Given the description of an element on the screen output the (x, y) to click on. 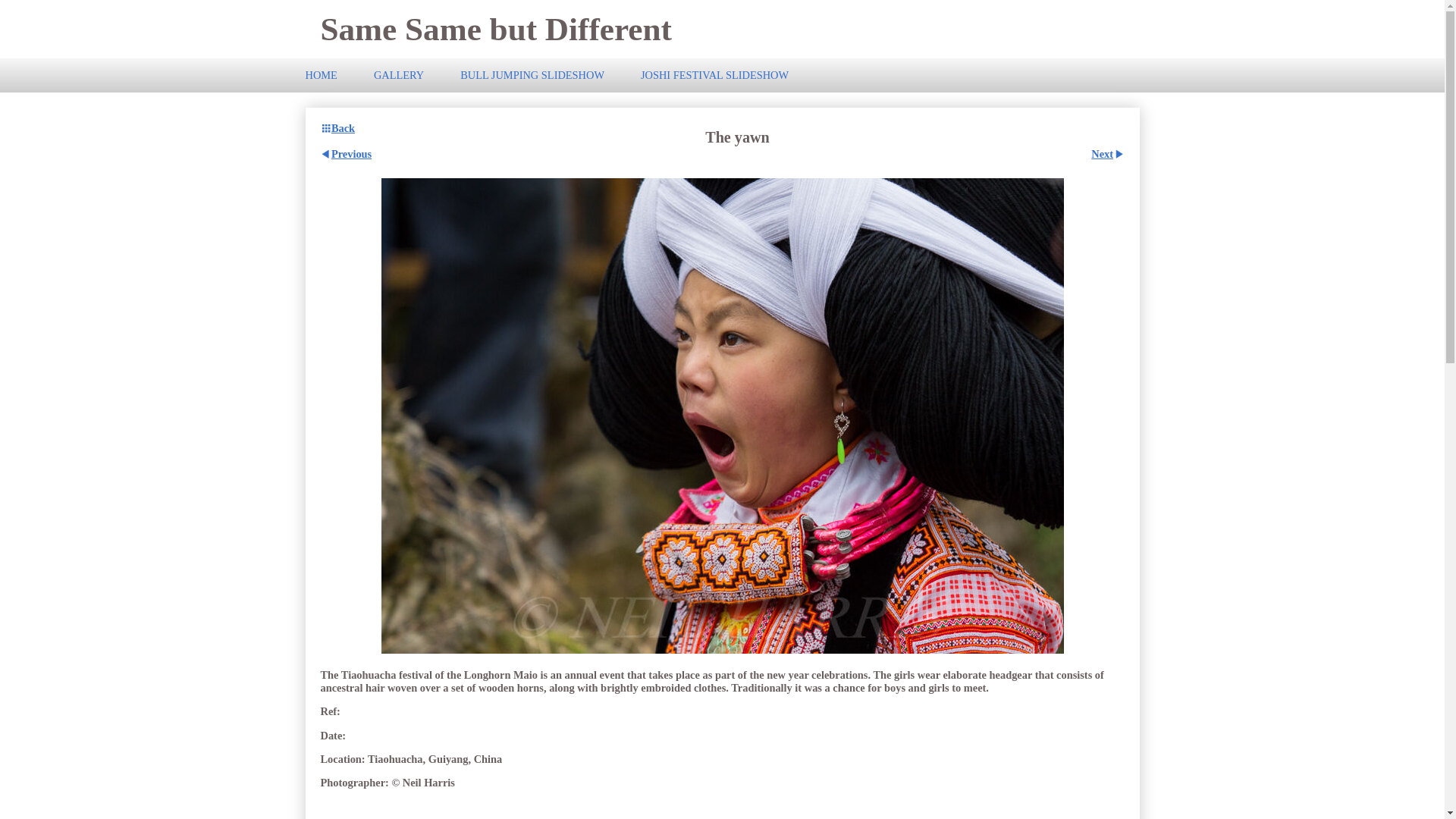
GALLERY (398, 75)
Same Same but Different (495, 28)
HOME (329, 75)
